Given the description of an element on the screen output the (x, y) to click on. 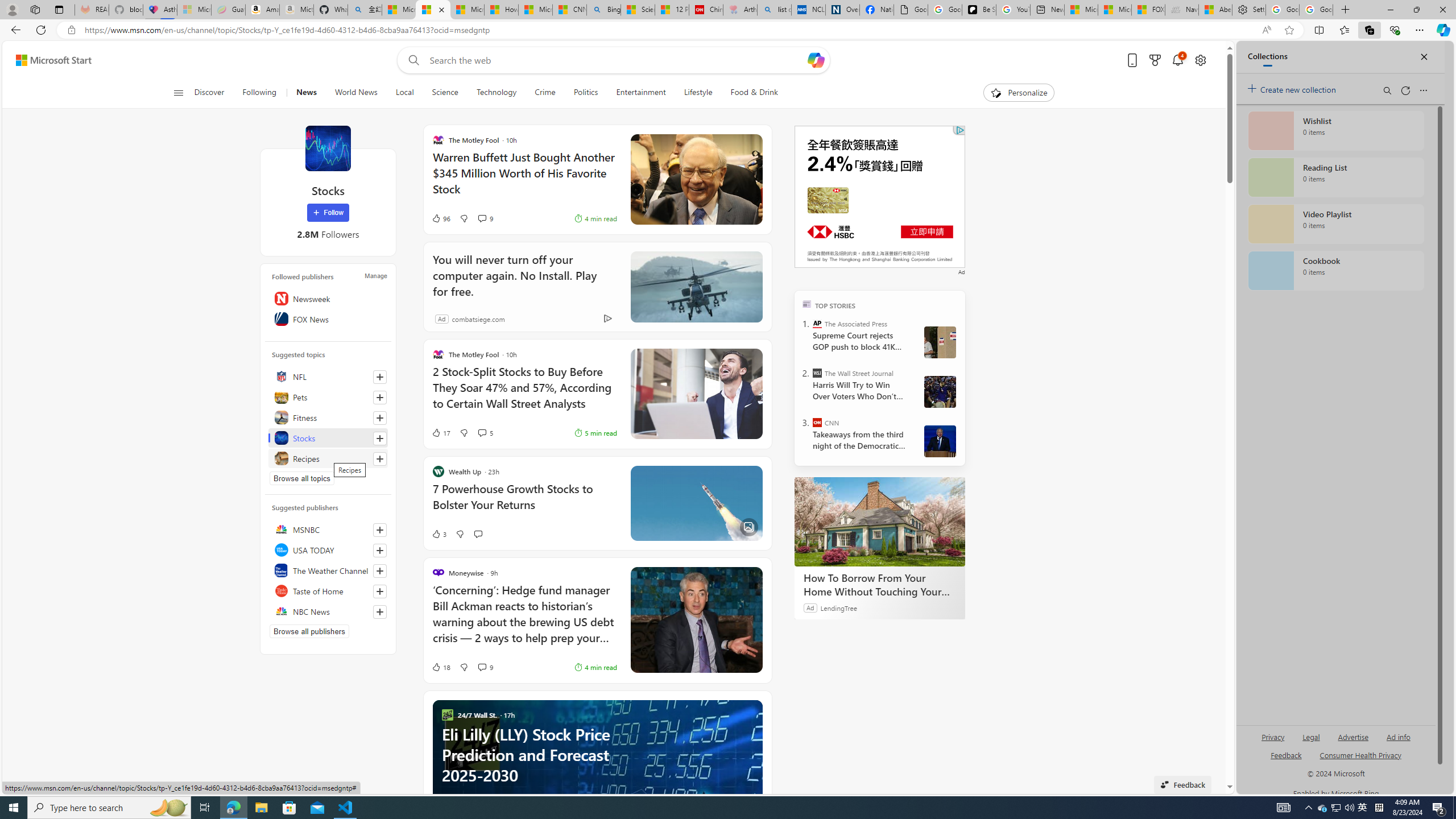
Newsweek (327, 298)
Follow this topic (379, 459)
7 Powerhouse Growth Stocks to Bolster Your Returns (524, 502)
